Given the description of an element on the screen output the (x, y) to click on. 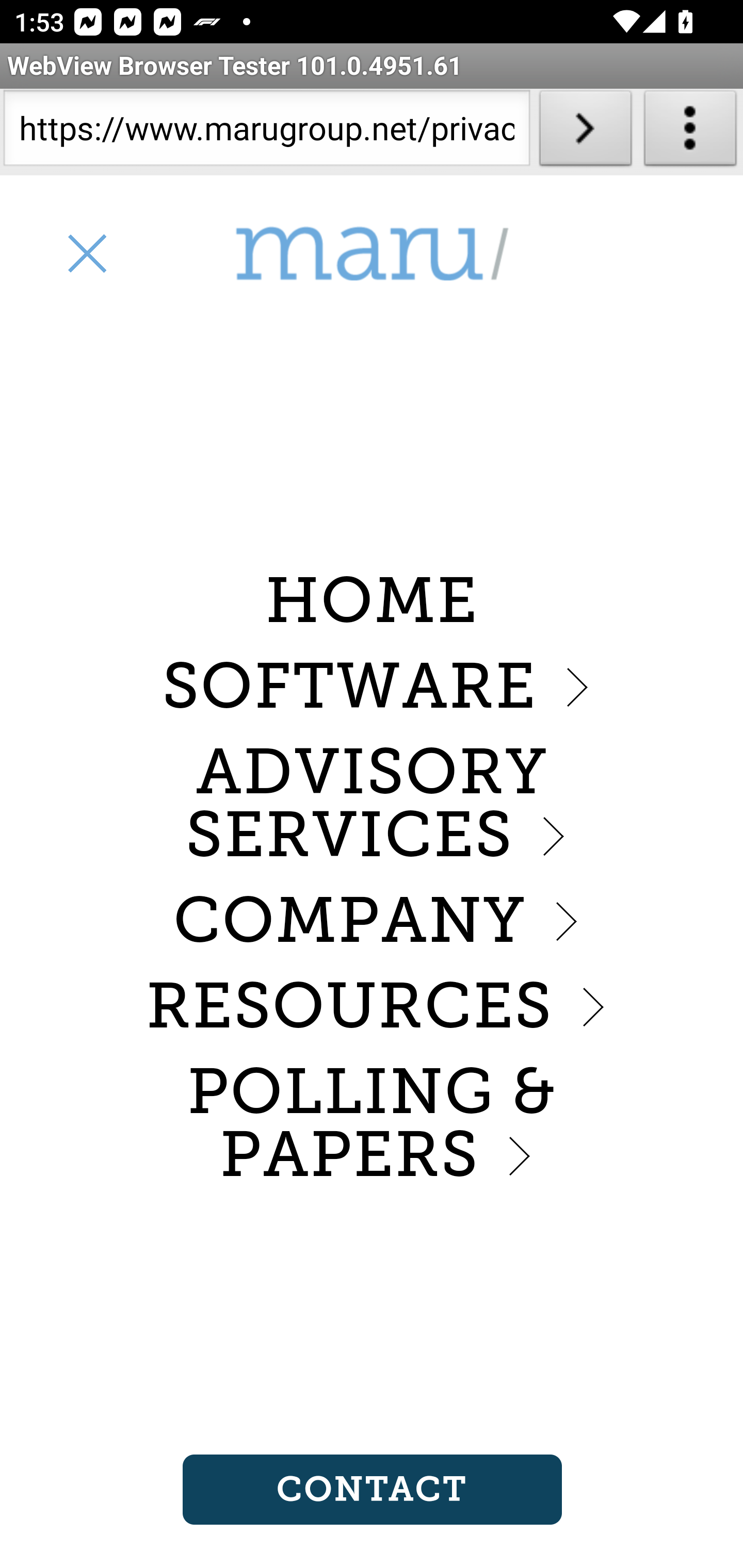
https://www.marugroup.net/privacy-policy (266, 132)
Load URL (585, 132)
About WebView (690, 132)
Close Menu (86, 252)
Maru Group (371, 253)
HOME (372, 601)
FOLDER: SOFTWARE FOLDER:SOFTWARE (372, 685)
FOLDER: ADVISORY SERVICES FOLDER:ADVISORY SERVICES (372, 803)
FOLDER: COMPANY FOLDER:COMPANY (372, 920)
FOLDER: RESOURCES FOLDER:RESOURCES (372, 1006)
FOLDER: POLLING & PAPERS FOLDER:POLLING & PAPERS (372, 1123)
CONTACT (371, 1489)
